Given the description of an element on the screen output the (x, y) to click on. 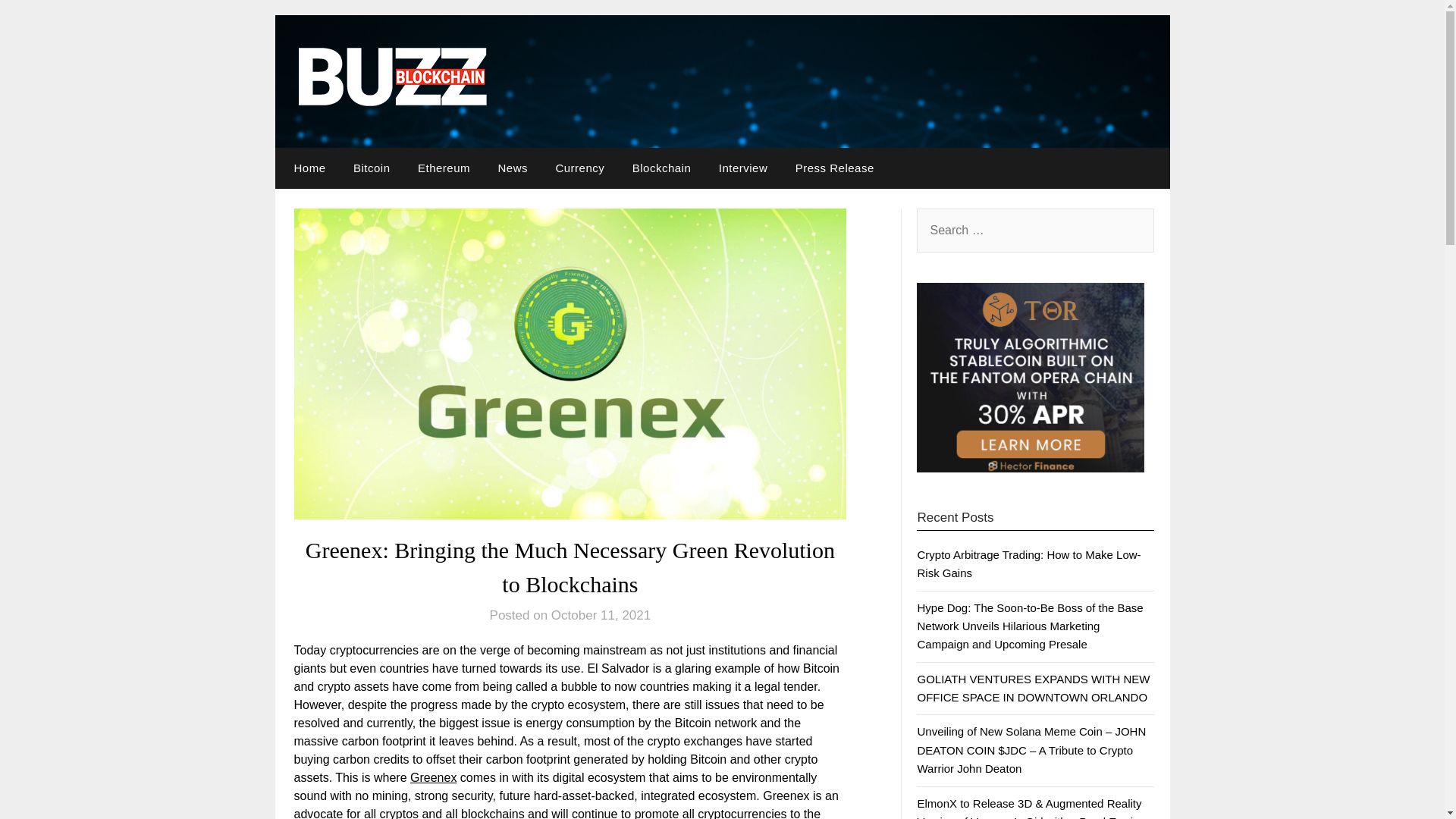
Search (38, 22)
Bitcoin (371, 168)
Ethereum (443, 168)
Crypto Arbitrage Trading: How to Make Low-Risk Gains (1028, 563)
Blockchain (661, 168)
Interview (743, 168)
News (512, 168)
Greenex (433, 777)
Currency (579, 168)
Press Release (834, 168)
Home (306, 168)
